Given the description of an element on the screen output the (x, y) to click on. 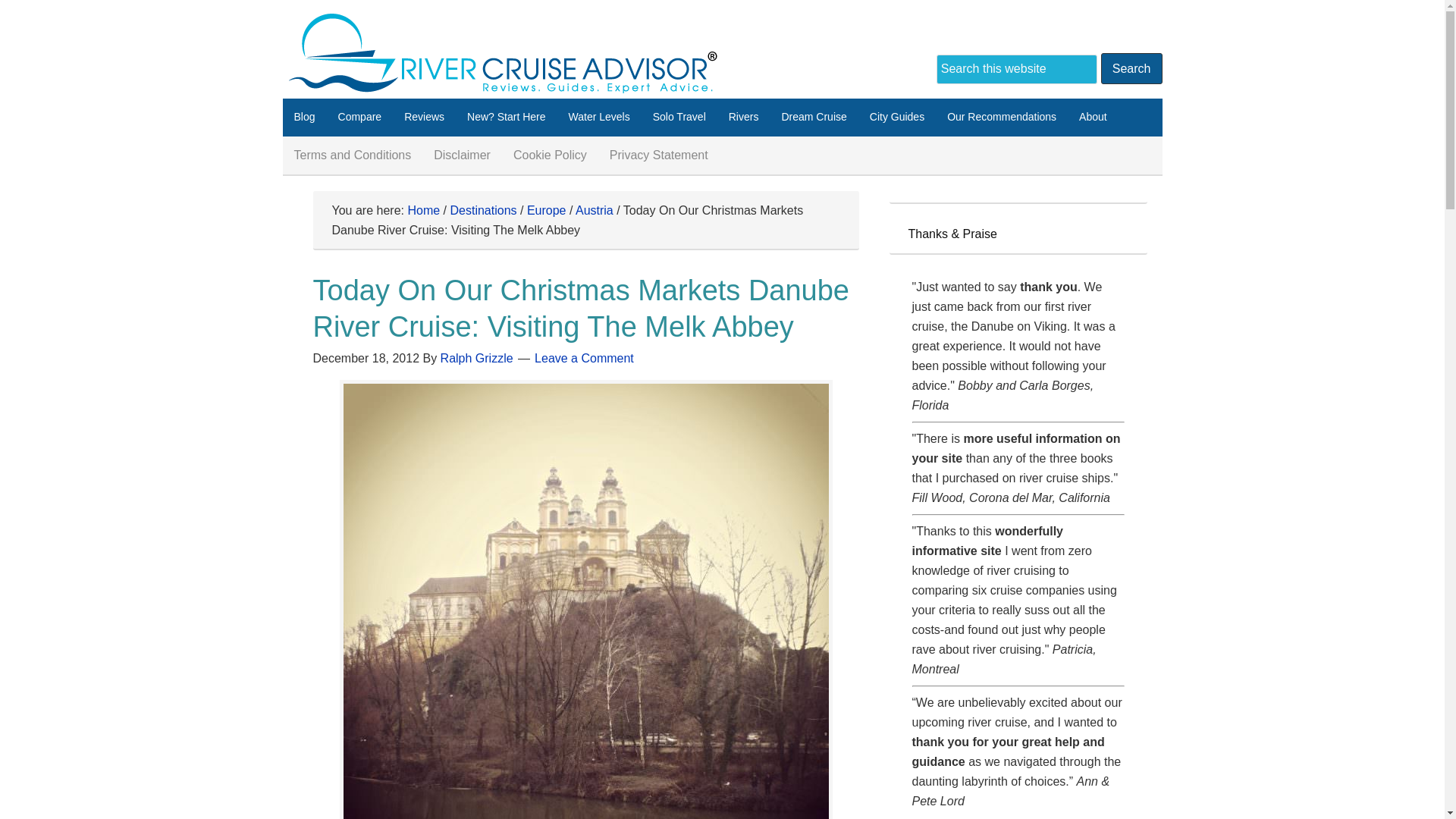
Search (1130, 68)
Choose Your River (743, 116)
Privacy Statement (658, 155)
Reviews (424, 116)
Solo Travel (679, 116)
Blog (304, 116)
Search (1130, 68)
Ralph Grizzle (477, 358)
Home (423, 210)
Leave a Comment (583, 358)
Compare (359, 116)
River Cruise Advisor (509, 52)
Cookie Policy (550, 155)
Europe (546, 210)
City Guides (897, 116)
